Given the description of an element on the screen output the (x, y) to click on. 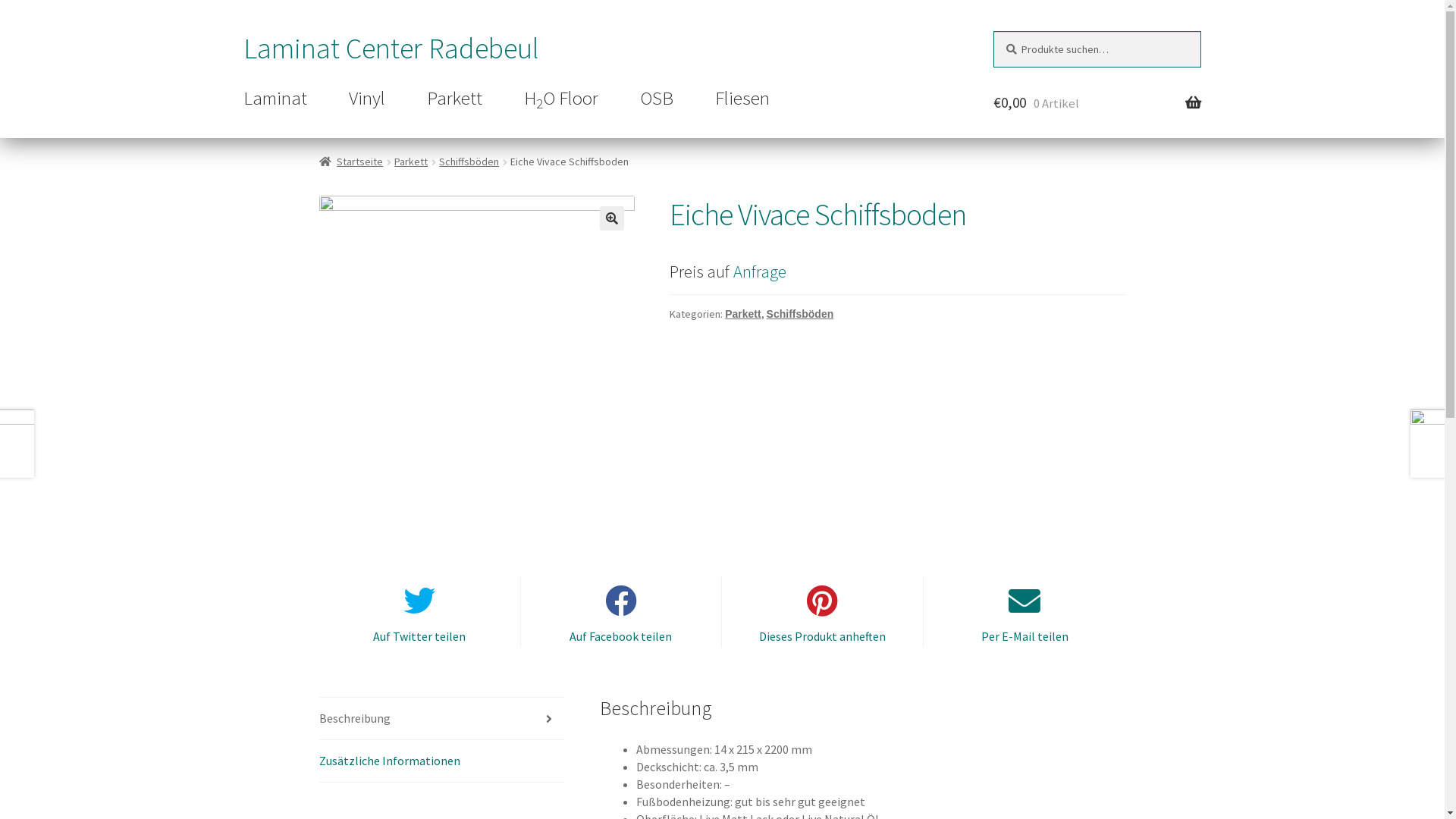
Auf Twitter teilen Element type: text (419, 610)
Vinyl Element type: text (366, 97)
Dieses Produkt anheften Element type: text (821, 610)
OSB Element type: text (656, 97)
H2O Floor Element type: text (561, 99)
Laminat Element type: text (275, 97)
Beschreibung Element type: text (441, 718)
Per E-Mail teilen Element type: text (1024, 610)
Fliesen Element type: text (742, 97)
Parkett Element type: text (410, 161)
Suche Element type: text (993, 31)
Parkett Element type: text (742, 313)
Laminat Center Radebeul Element type: text (391, 47)
Auf Facebook teilen Element type: text (620, 610)
Anfrage Element type: text (759, 271)
Startseite Element type: text (351, 161)
EicheVivaceSB Element type: hover (476, 353)
Parkett Element type: text (454, 97)
